Given the description of an element on the screen output the (x, y) to click on. 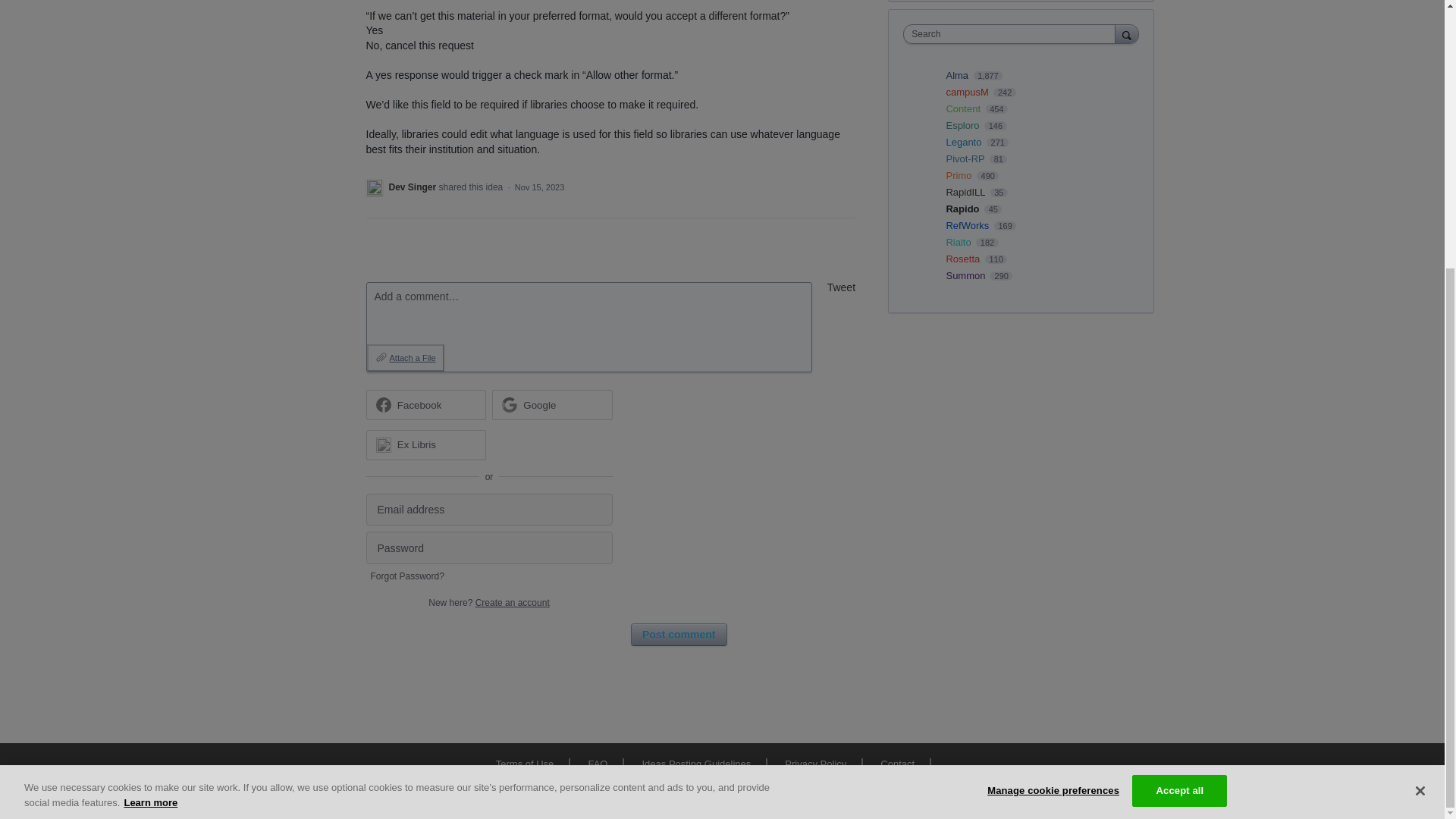
Forgot Password? (406, 576)
Facebook sign in (425, 404)
Facebook (425, 404)
Facebook (419, 405)
Google sign in (552, 404)
Dev Singer (413, 186)
Ex Libris (425, 444)
Google (552, 404)
Tweet (841, 287)
Attach a File (405, 357)
